Given the description of an element on the screen output the (x, y) to click on. 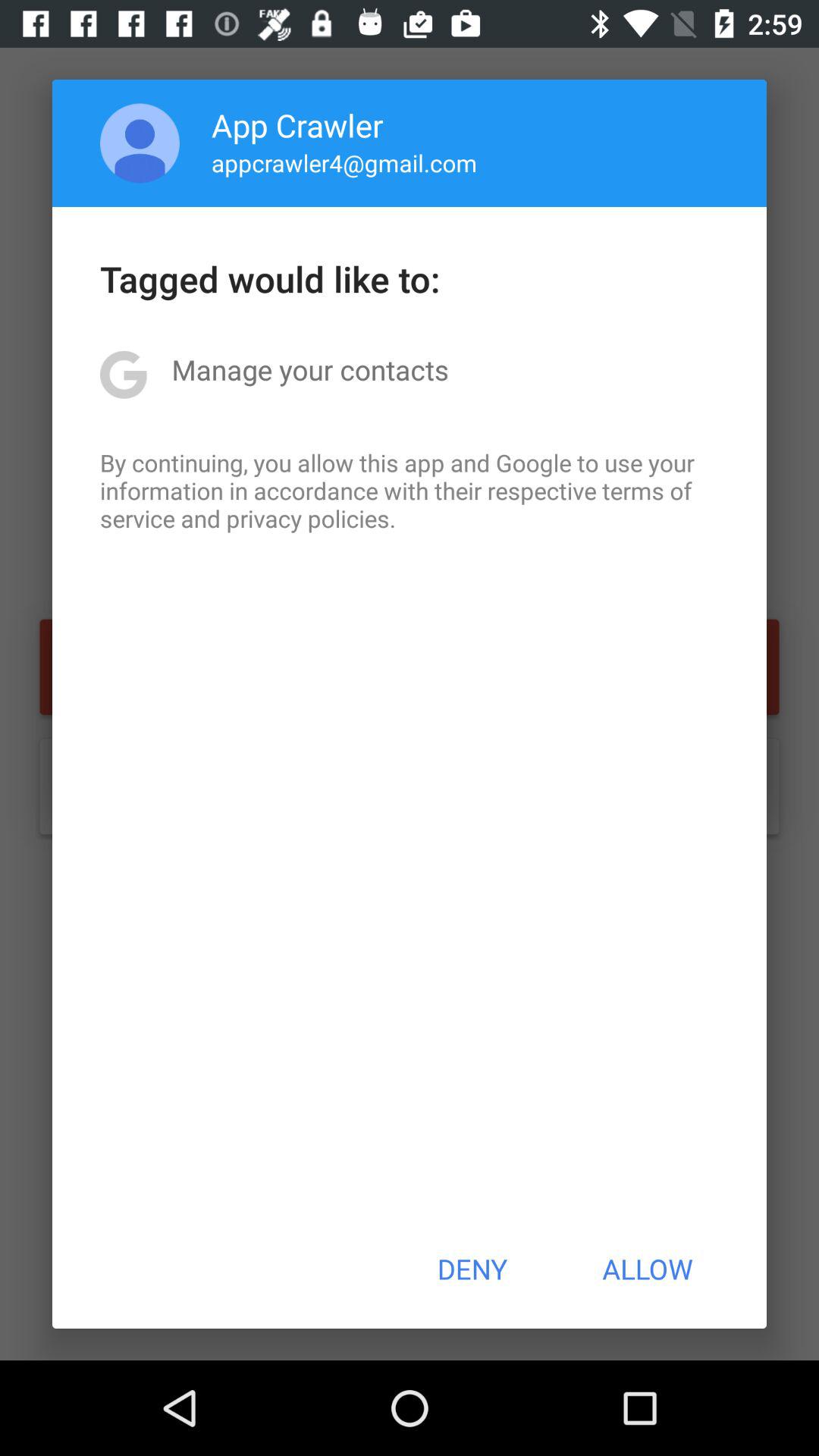
turn on the app above tagged would like app (344, 162)
